Given the description of an element on the screen output the (x, y) to click on. 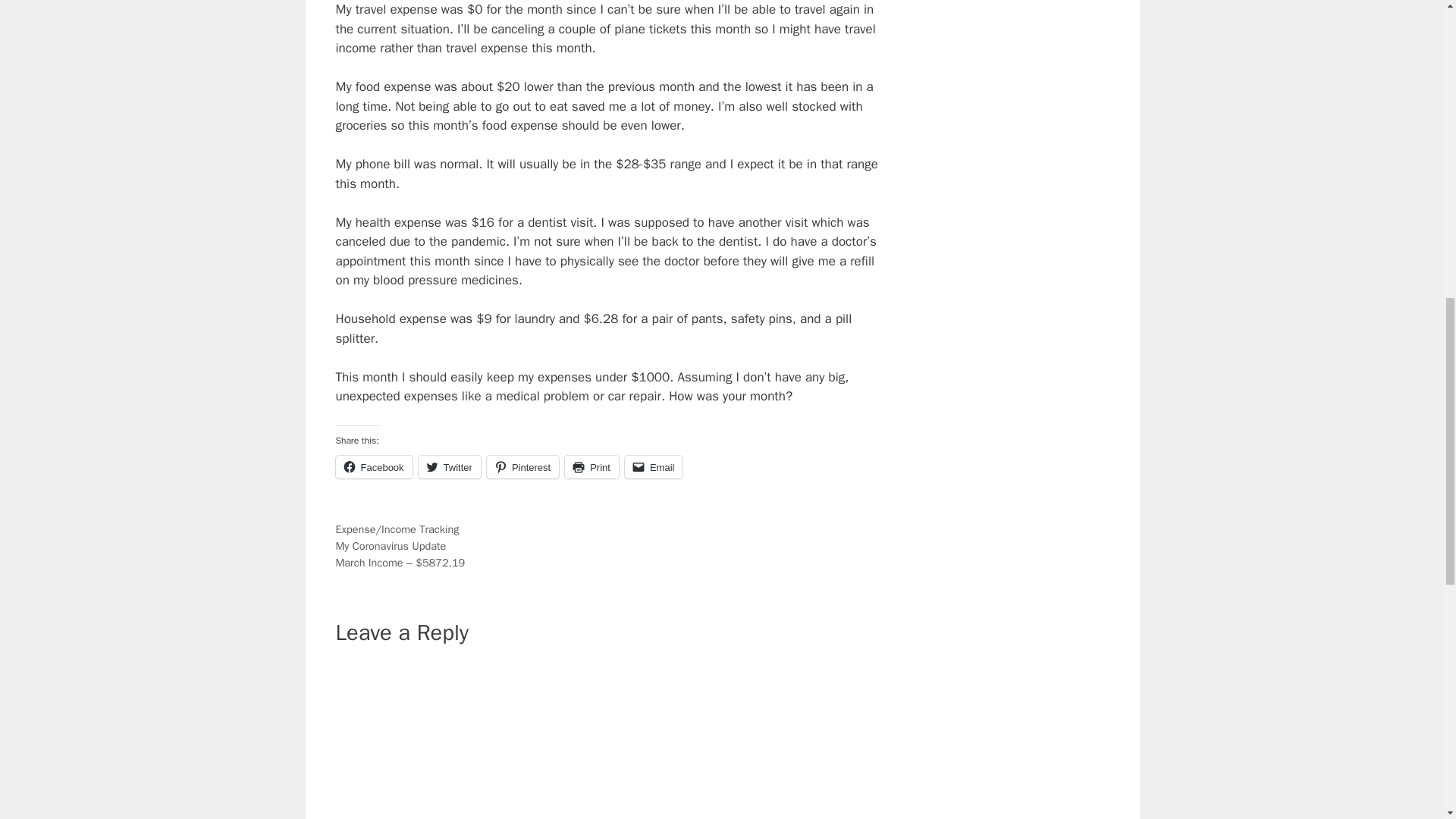
Pinterest (522, 466)
Click to share on Twitter (449, 466)
Click to share on Facebook (373, 466)
Email (653, 466)
Click to email a link to a friend (653, 466)
Facebook (373, 466)
Comment Form (609, 740)
Print (591, 466)
Click to print (591, 466)
Twitter (449, 466)
